Given the description of an element on the screen output the (x, y) to click on. 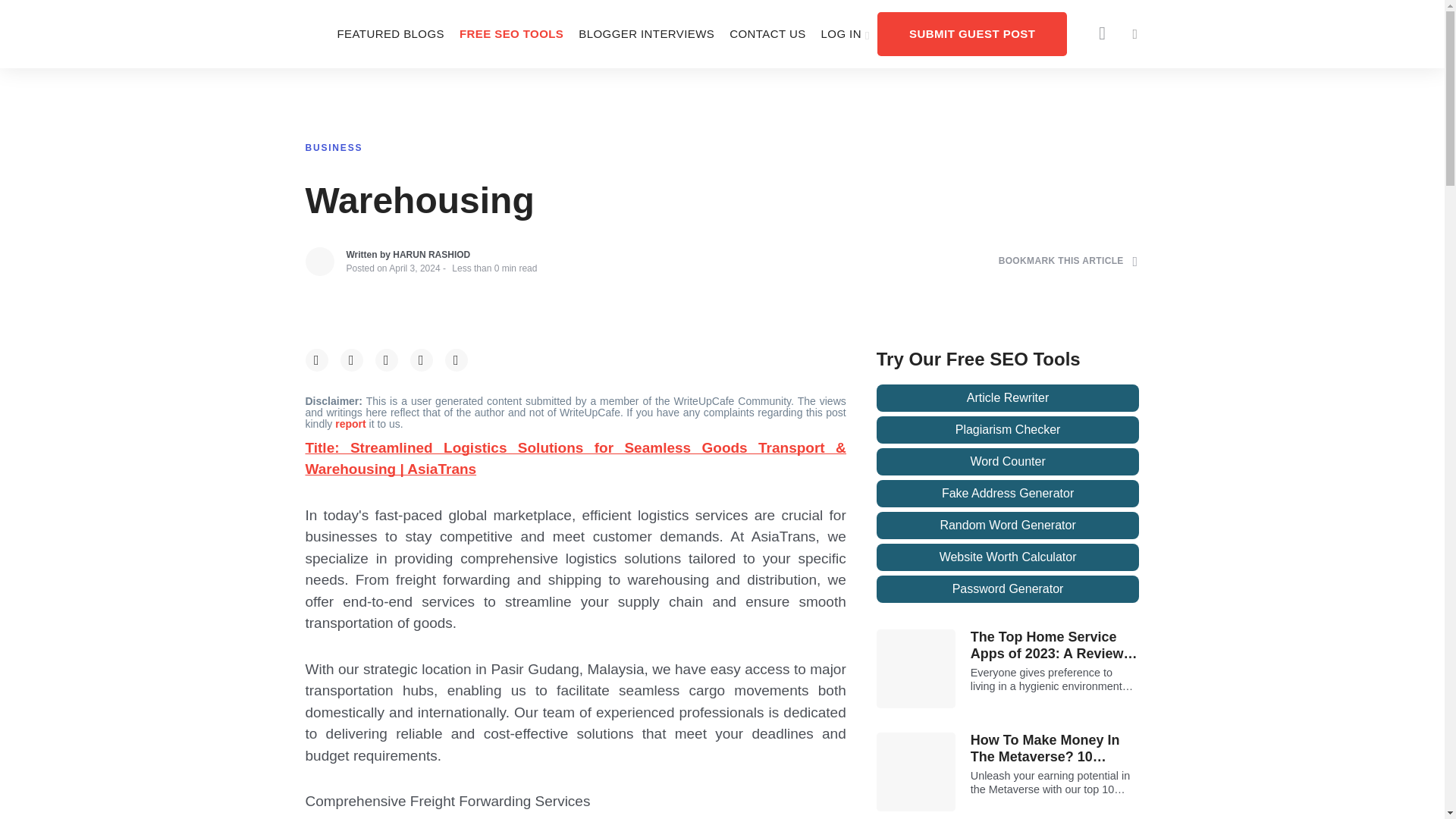
Article Rewriter (1008, 397)
FEATURED BLOGS (390, 33)
BLOGGER INTERVIEWS (646, 33)
CONTACT US (767, 33)
LOG IN (845, 33)
BOOKMARK THIS ARTICLE (1068, 261)
SUBMIT GUEST POST (972, 33)
FEATURED BLOGS (390, 33)
